Given the description of an element on the screen output the (x, y) to click on. 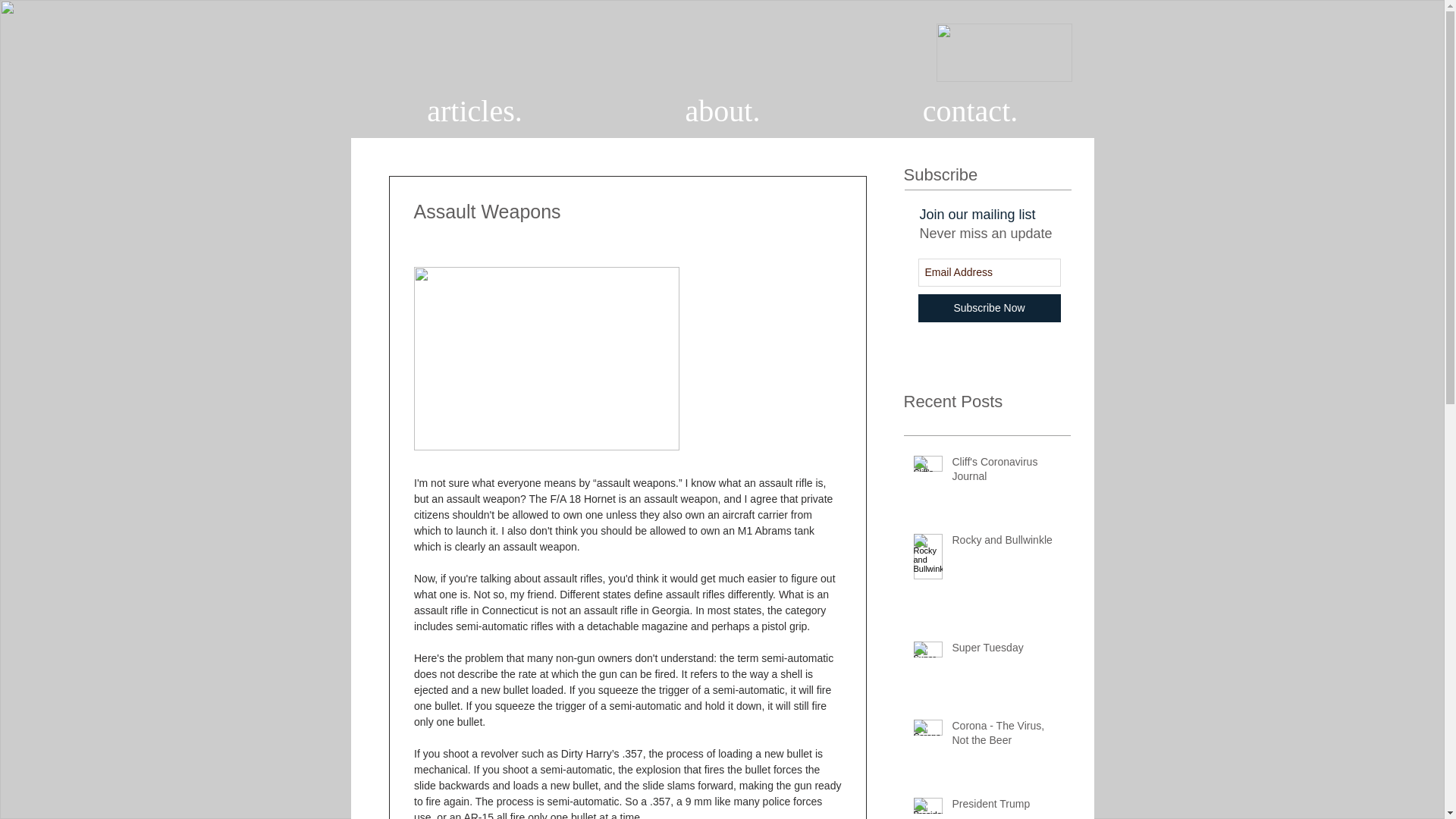
contact. (969, 110)
about. (722, 110)
Cliff's Coronavirus Journal (1006, 472)
Super Tuesday (1006, 650)
Subscribe Now (988, 308)
Corona - The Virus, Not the Beer (1006, 736)
Rocky and Bullwinkle (1006, 543)
articles. (474, 110)
President Trump (1006, 807)
